Given the description of an element on the screen output the (x, y) to click on. 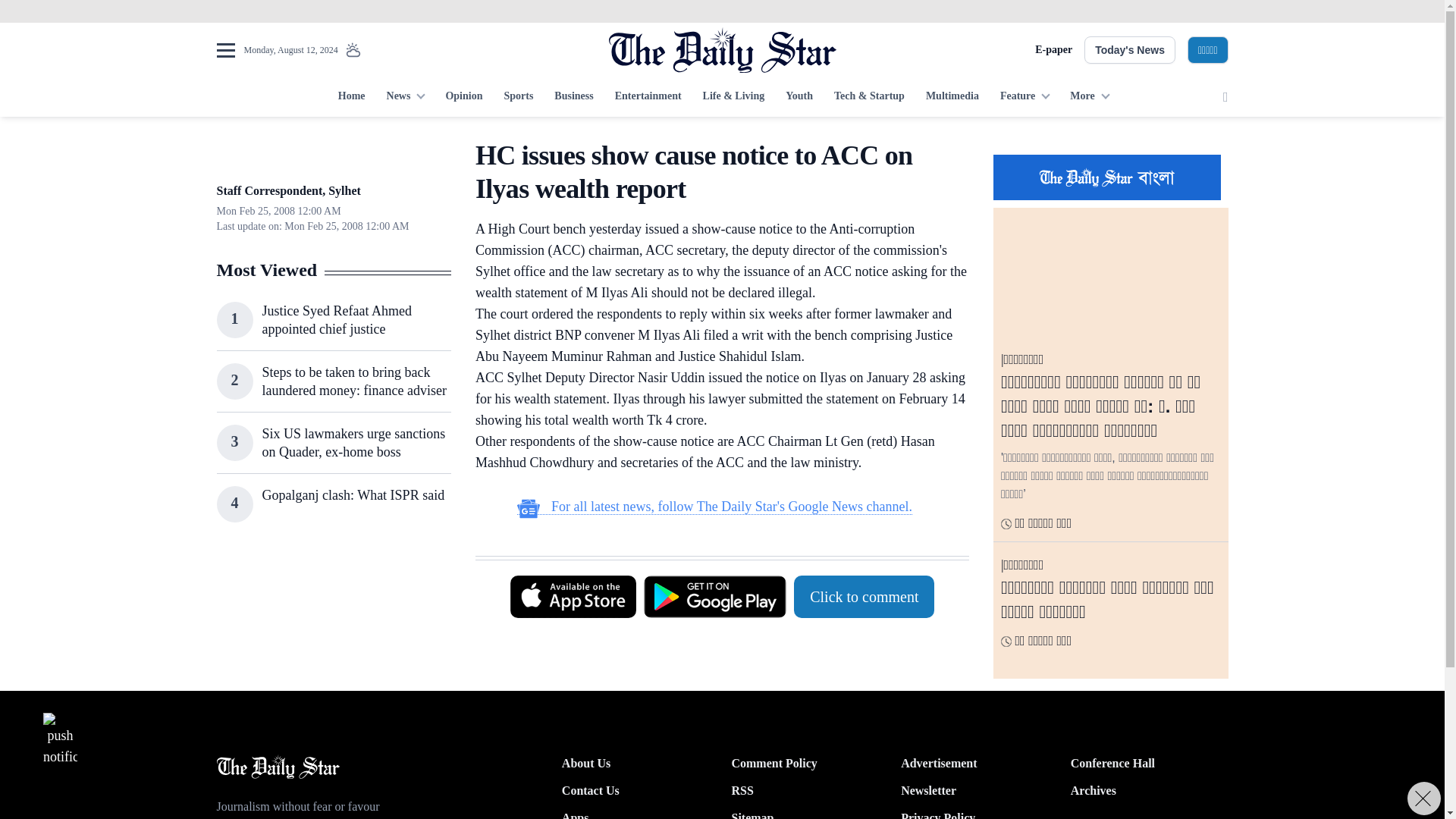
Today's News (1129, 49)
Opinion (463, 96)
Sports (518, 96)
Business (573, 96)
Youth (799, 96)
Entertainment (647, 96)
Feature (1024, 96)
Home (351, 96)
E-paper (1053, 49)
